Given the description of an element on the screen output the (x, y) to click on. 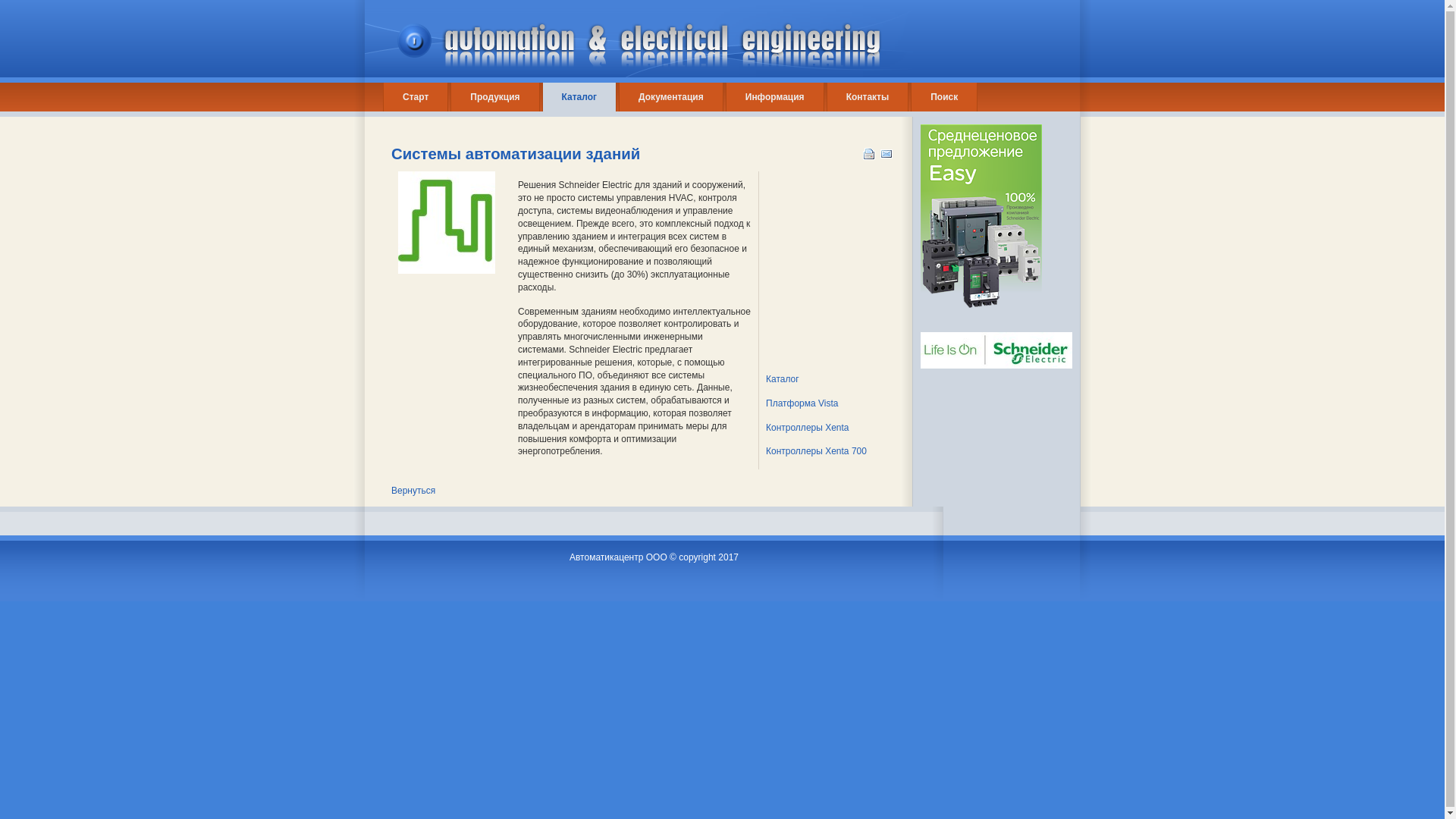
Image Element type: hover (446, 222)
E-mail Element type: hover (888, 150)
